Given the description of an element on the screen output the (x, y) to click on. 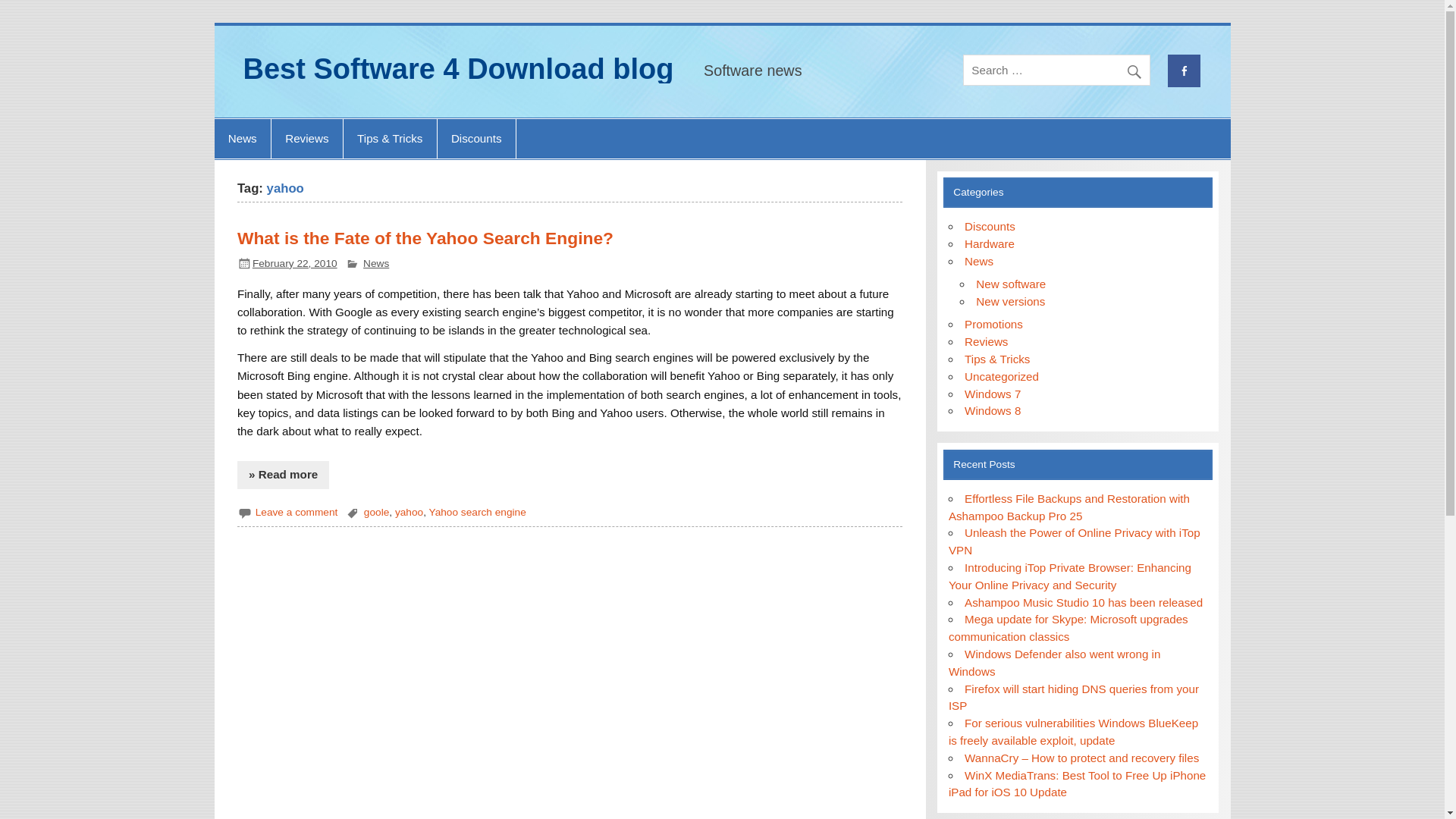
Uncategorized (1001, 376)
yahoo (408, 511)
Firefox will start hiding DNS queries from your ISP (1073, 697)
New versions (1010, 300)
Promotions (993, 323)
Hardware (988, 243)
February 22, 2010 (294, 263)
Best Software 4 Download blog (457, 69)
What is the Fate of the Yahoo Search Engine? (424, 238)
